Given the description of an element on the screen output the (x, y) to click on. 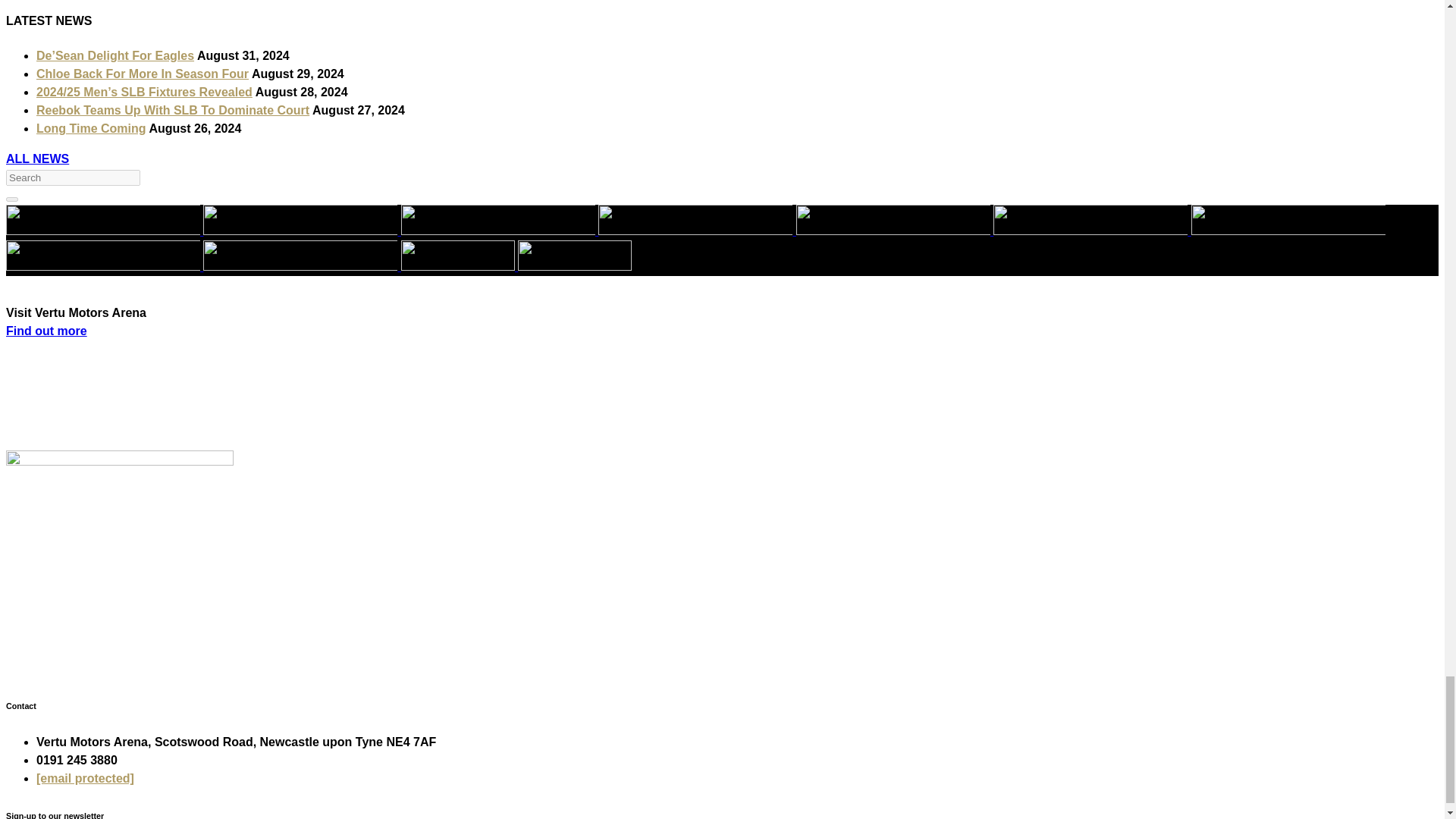
Muckle LLP (695, 219)
ALL NEWS (36, 158)
Maldron Hotel Newcastle (498, 219)
Simpson Group (1090, 219)
Newcastle International Airport (1288, 219)
Northumbria Health (893, 219)
Vertu Honda (300, 219)
Super League Basketball (102, 219)
Molten (102, 255)
